Given the description of an element on the screen output the (x, y) to click on. 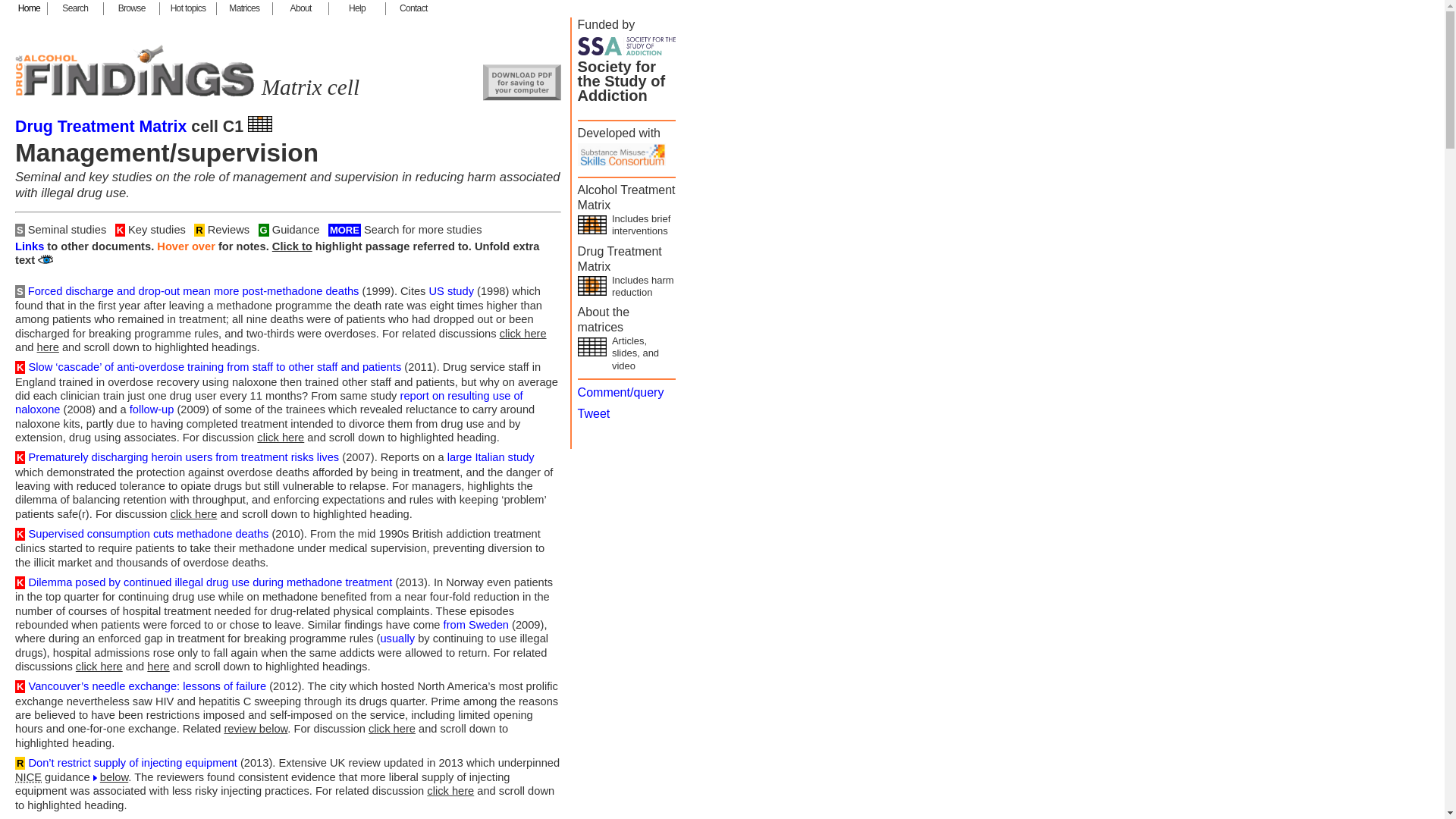
Tweet (594, 413)
Effectiveness Bank Drug Treatment Matrix. Opens new window (627, 271)
Drug Treatment Matrix (100, 126)
Important and controversial issues (187, 8)
How to find the research you are looking for (627, 271)
Society for the Study of Addiction (75, 8)
Effectiveness Bank home page. Opens new window (627, 82)
